Given the description of an element on the screen output the (x, y) to click on. 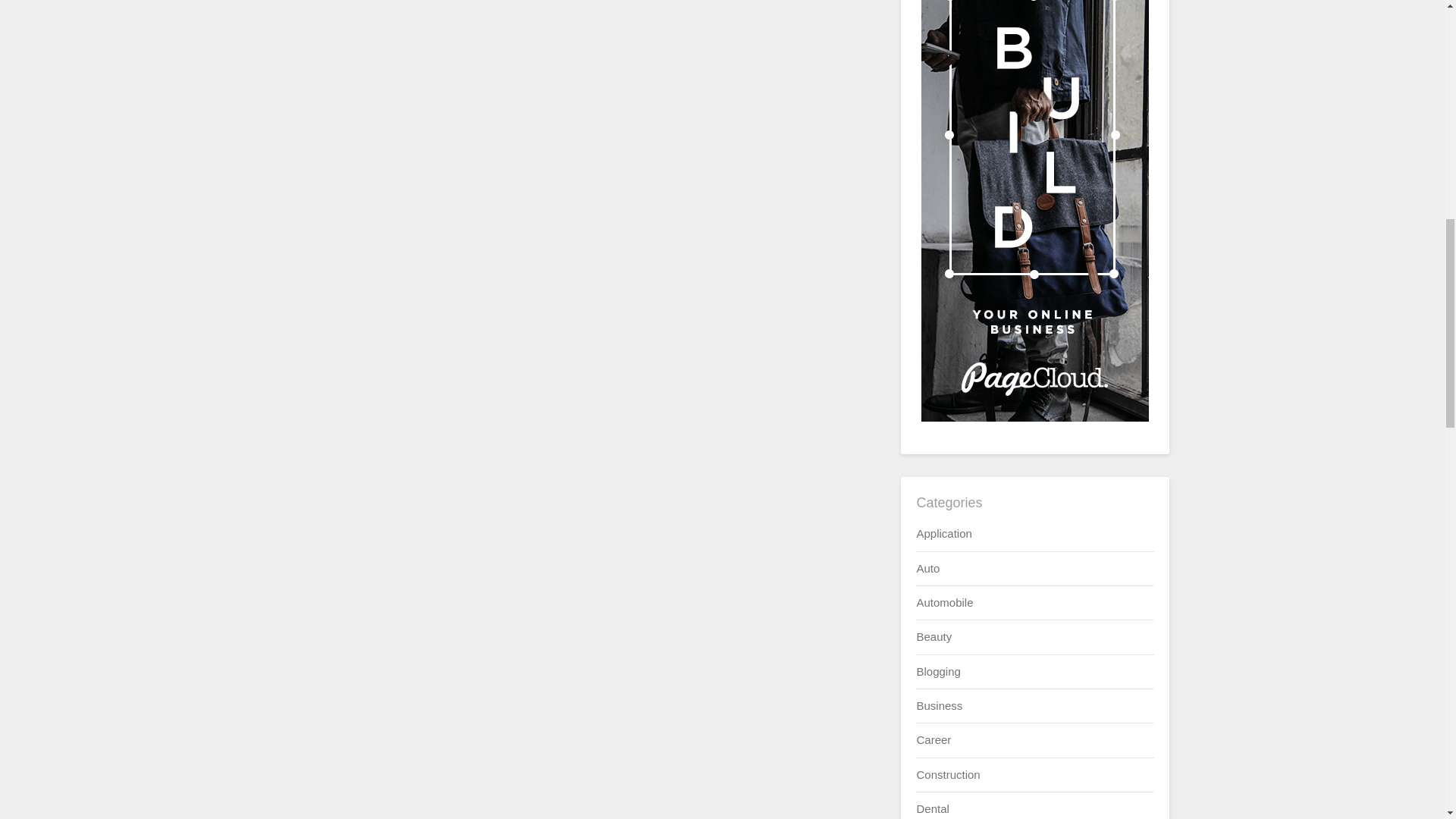
Application (943, 533)
